Given the description of an element on the screen output the (x, y) to click on. 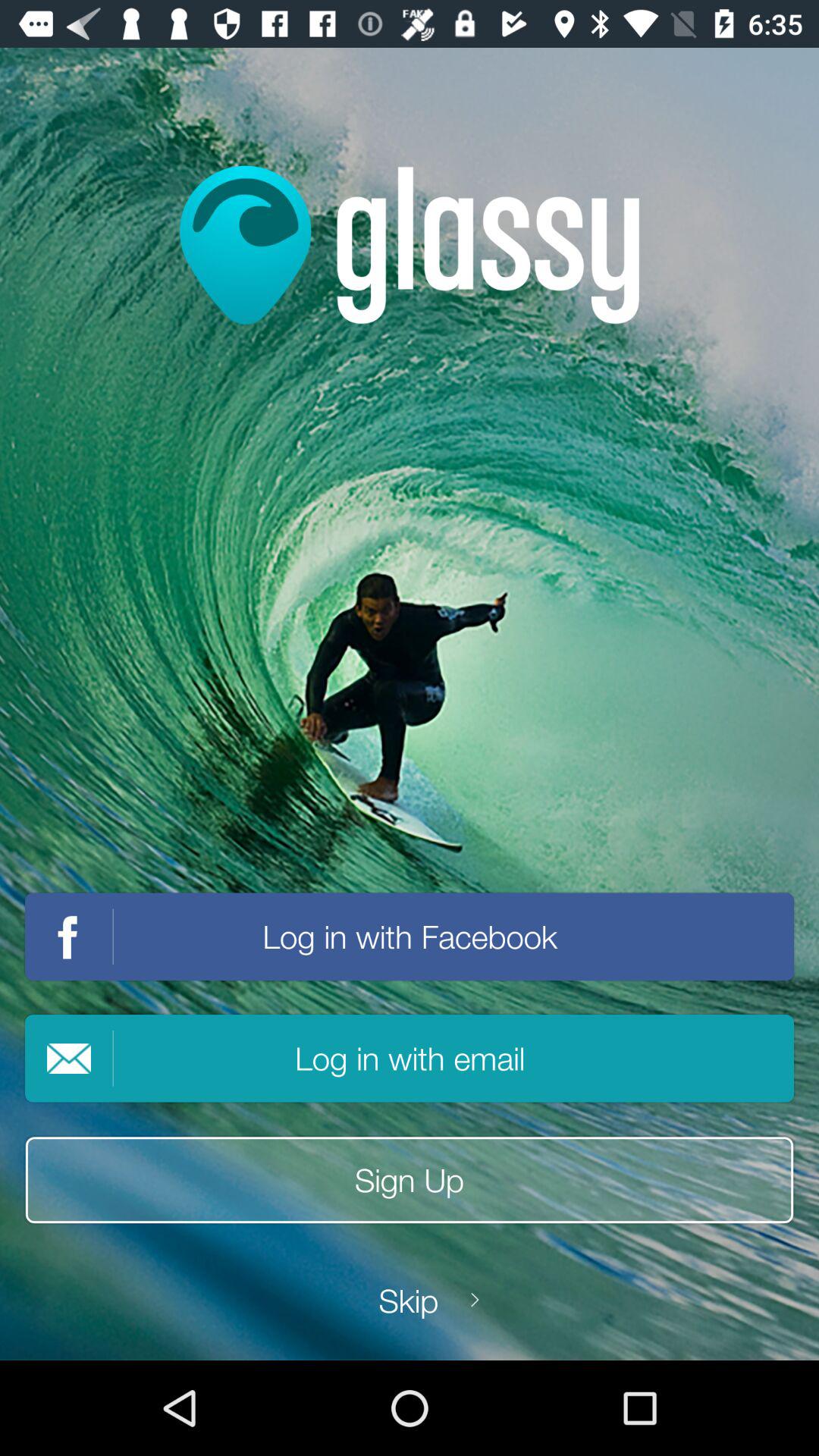
choose skip icon (408, 1300)
